Given the description of an element on the screen output the (x, y) to click on. 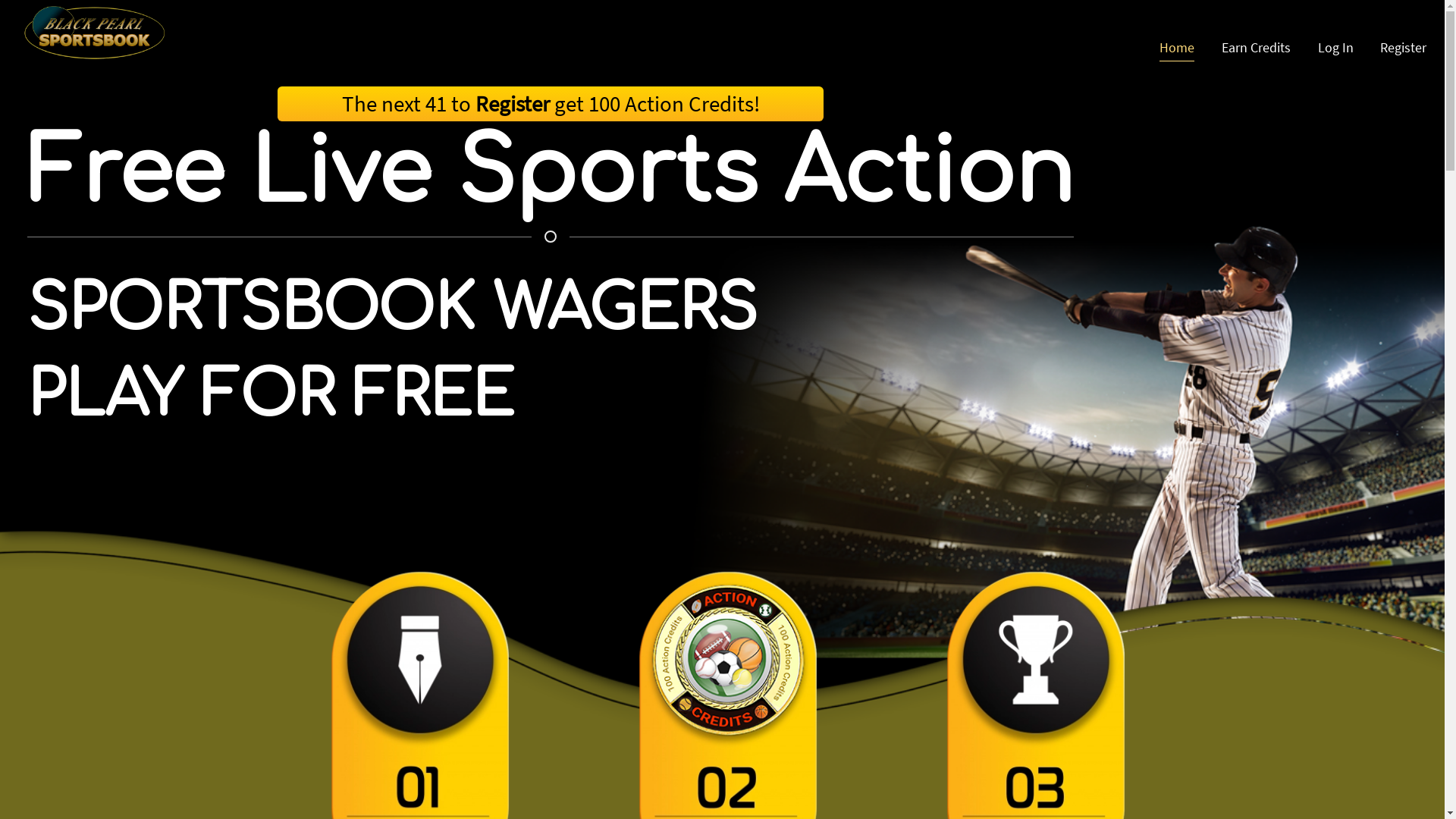
Earn Credits Element type: text (1256, 47)
Home Element type: text (1176, 47)
Register Element type: text (511, 103)
Log In Element type: text (1335, 47)
Register Element type: text (1402, 47)
